Given the description of an element on the screen output the (x, y) to click on. 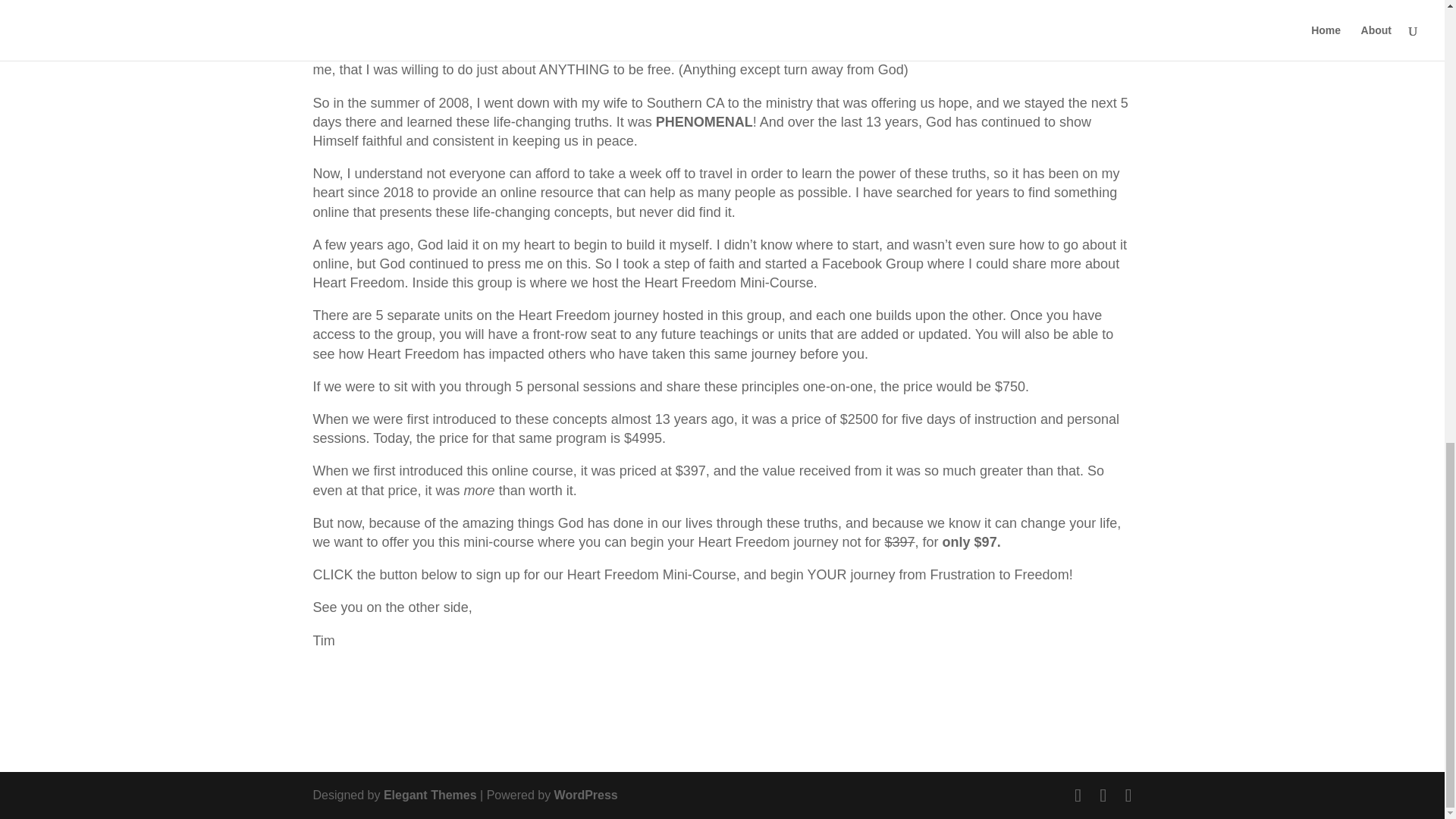
Elegant Themes (430, 794)
WordPress (585, 794)
Premium WordPress Themes (430, 794)
